Given the description of an element on the screen output the (x, y) to click on. 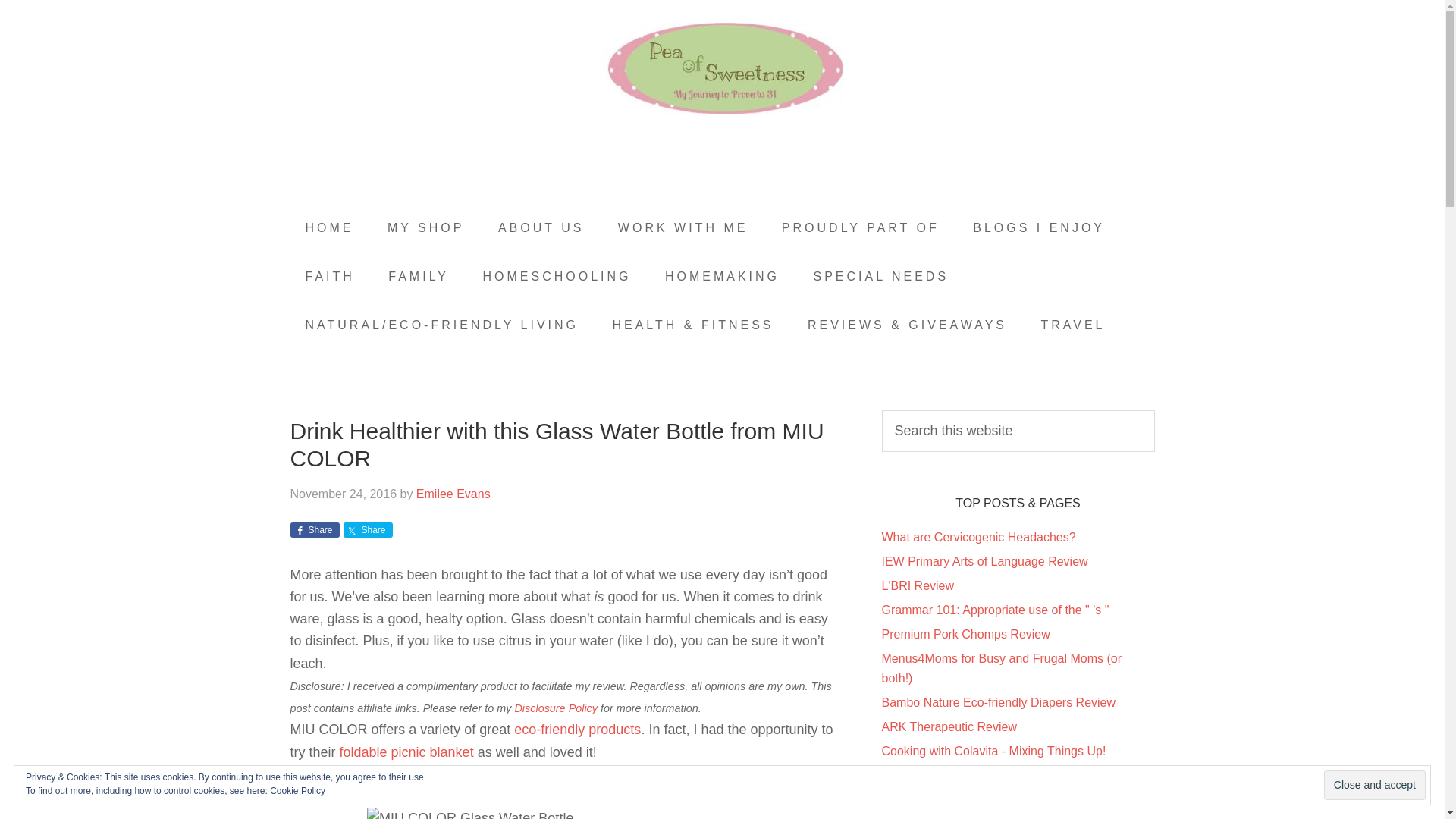
HOMESCHOOLING (556, 276)
BLOGS I ENJOY (1038, 227)
FAITH (329, 276)
WORK WITH ME (682, 227)
SPECIAL NEEDS (880, 276)
MY SHOP (426, 227)
Pea of Sweetness (721, 67)
ABOUT US (541, 227)
